Given the description of an element on the screen output the (x, y) to click on. 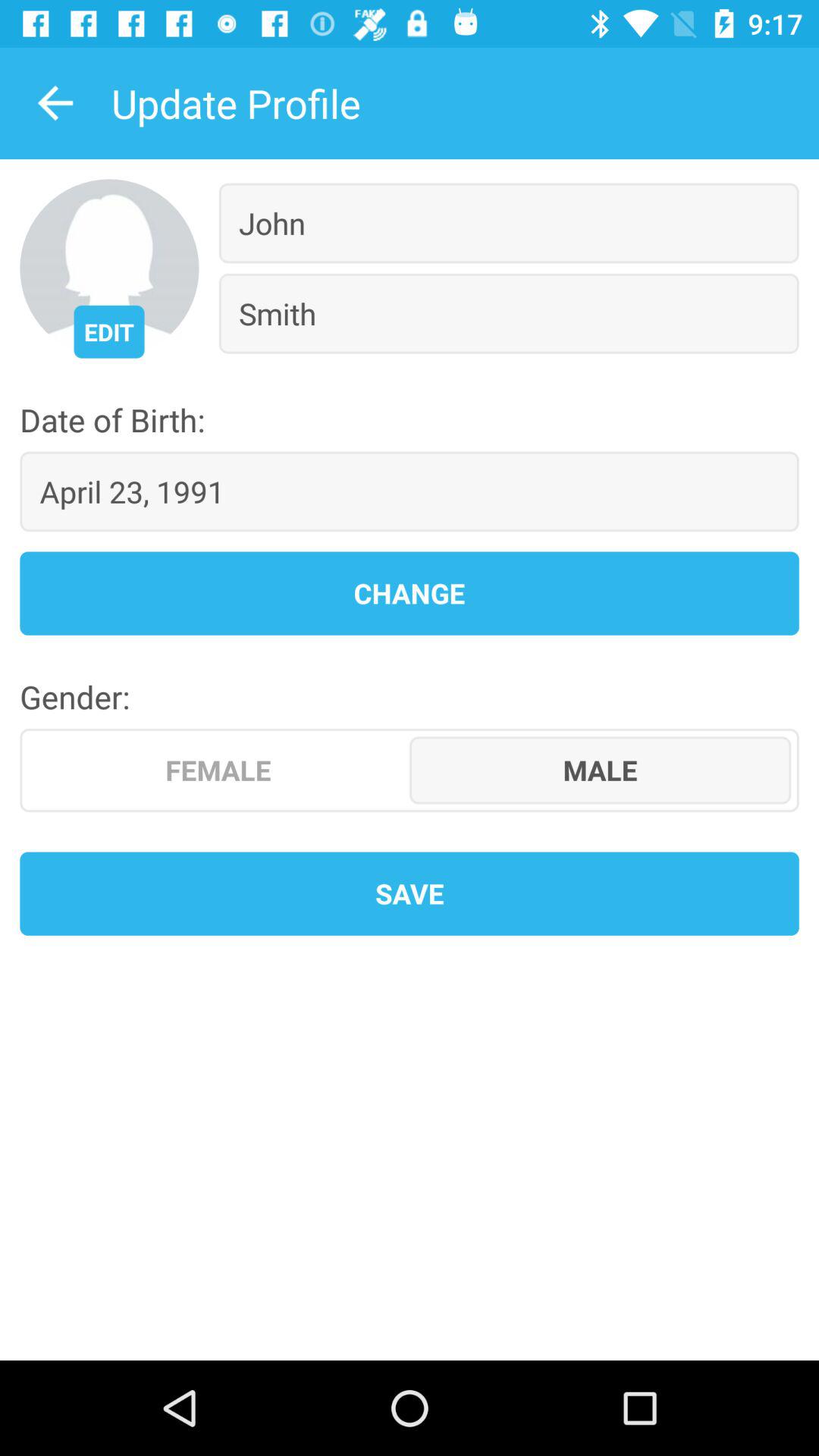
select item below update profile icon (108, 331)
